Given the description of an element on the screen output the (x, y) to click on. 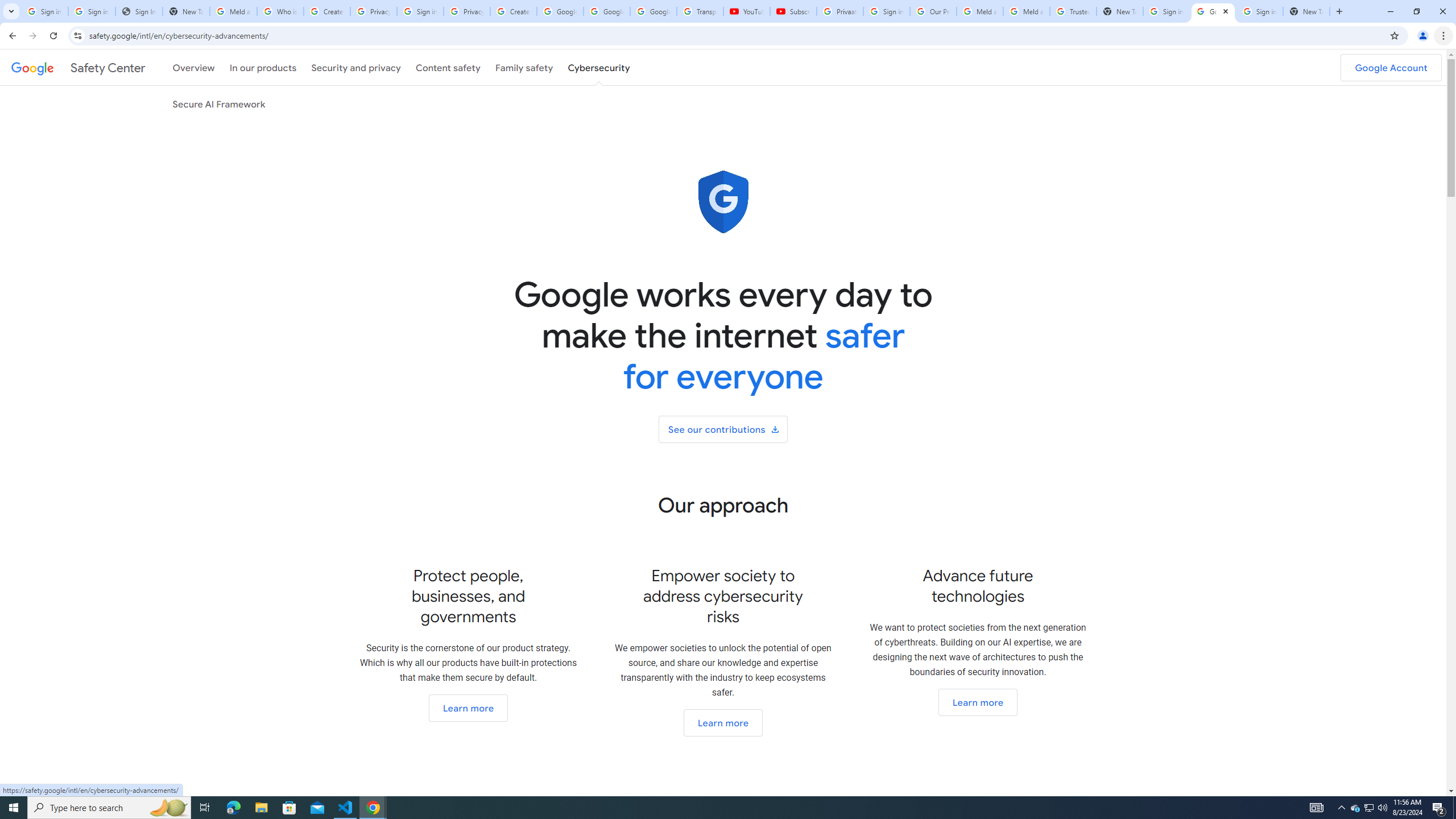
New Tab (1306, 11)
Family safety (523, 67)
Trusted Information and Content - Google Safety Center (1073, 11)
